Given the description of an element on the screen output the (x, y) to click on. 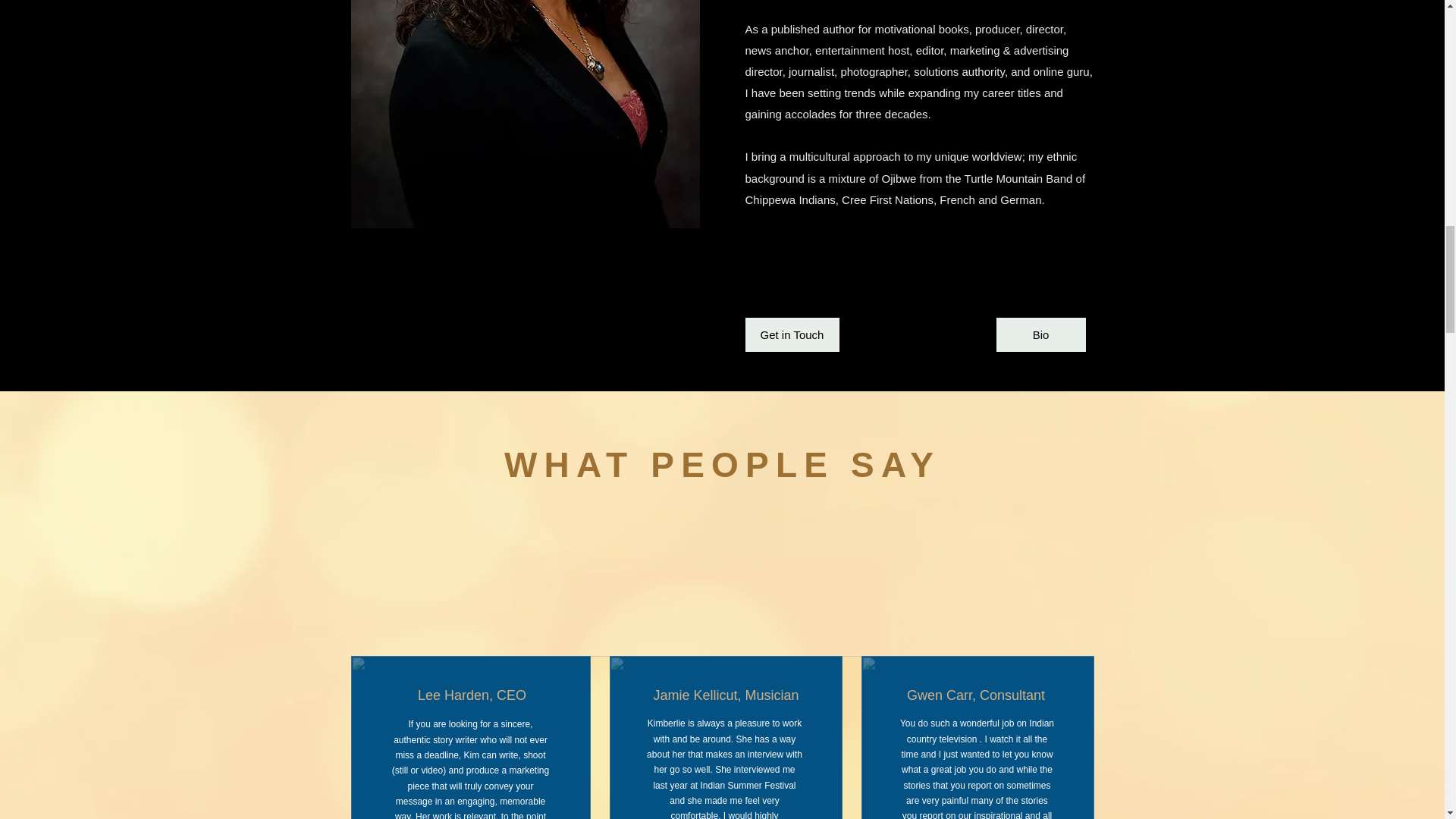
Bio (1040, 334)
Get in Touch (791, 334)
